Given the description of an element on the screen output the (x, y) to click on. 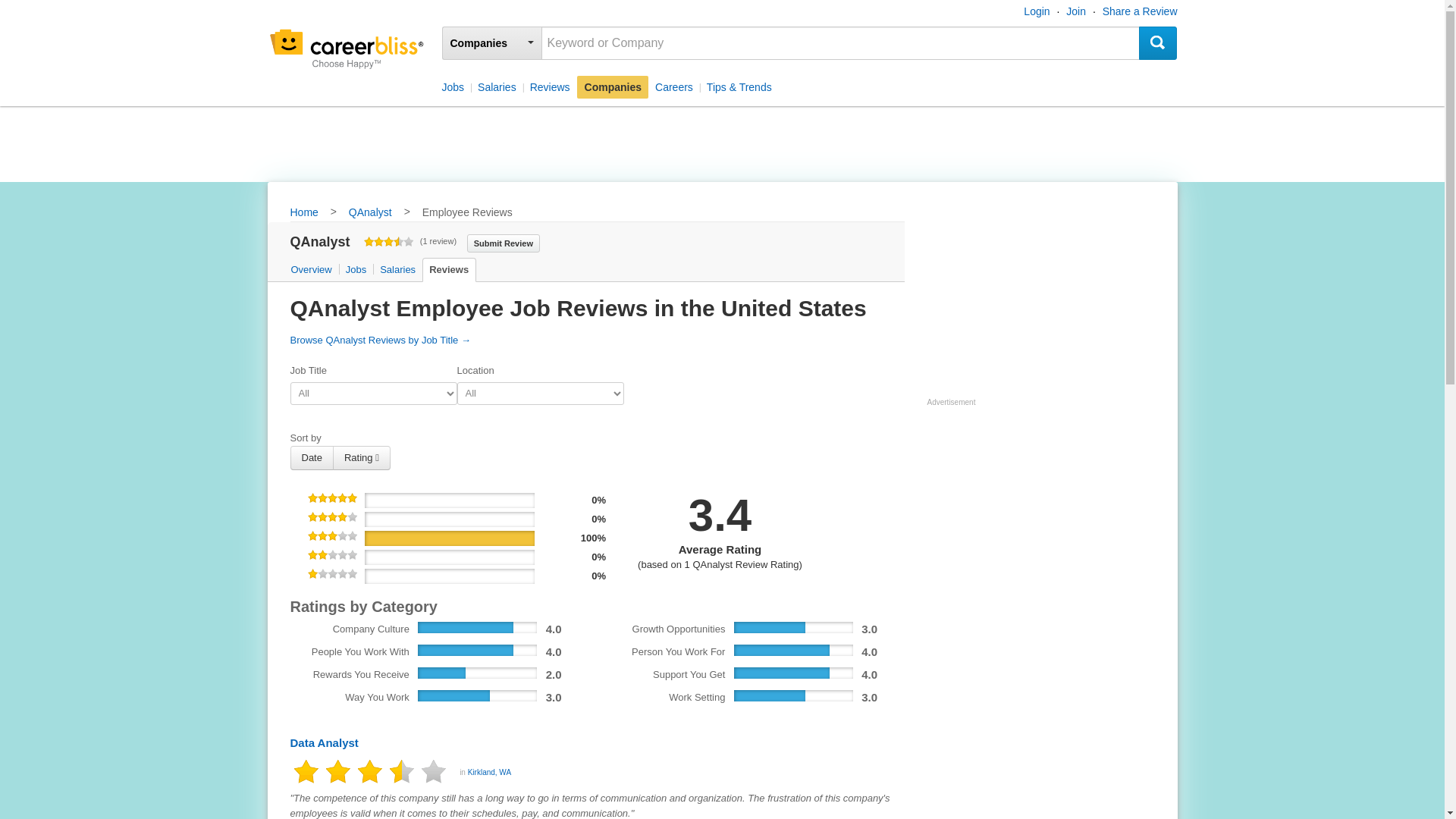
Salaries (496, 87)
Share your company review with the CareerBliss community! (503, 242)
Submit Review (503, 242)
Careers (673, 87)
Home (303, 212)
QAnalyst (370, 212)
Share a Review (1139, 10)
Join (1075, 10)
Login (1036, 10)
Overview (312, 269)
